Given the description of an element on the screen output the (x, y) to click on. 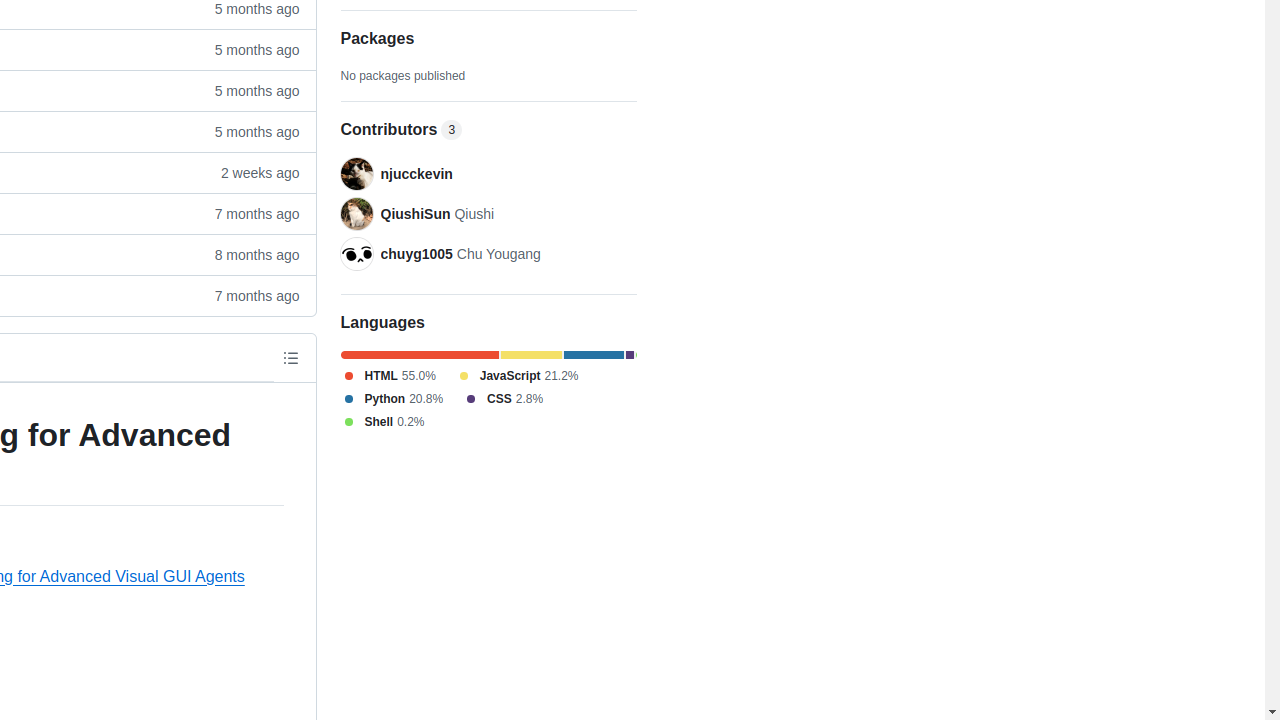
HTML 55.0% Element type: link (388, 376)
2 weeks ago Element type: table-cell (247, 172)
@QiushiSun Element type: link (356, 213)
QiushiSun Qiushi Element type: link (437, 213)
7 months ago Element type: table-cell (247, 295)
